Given the description of an element on the screen output the (x, y) to click on. 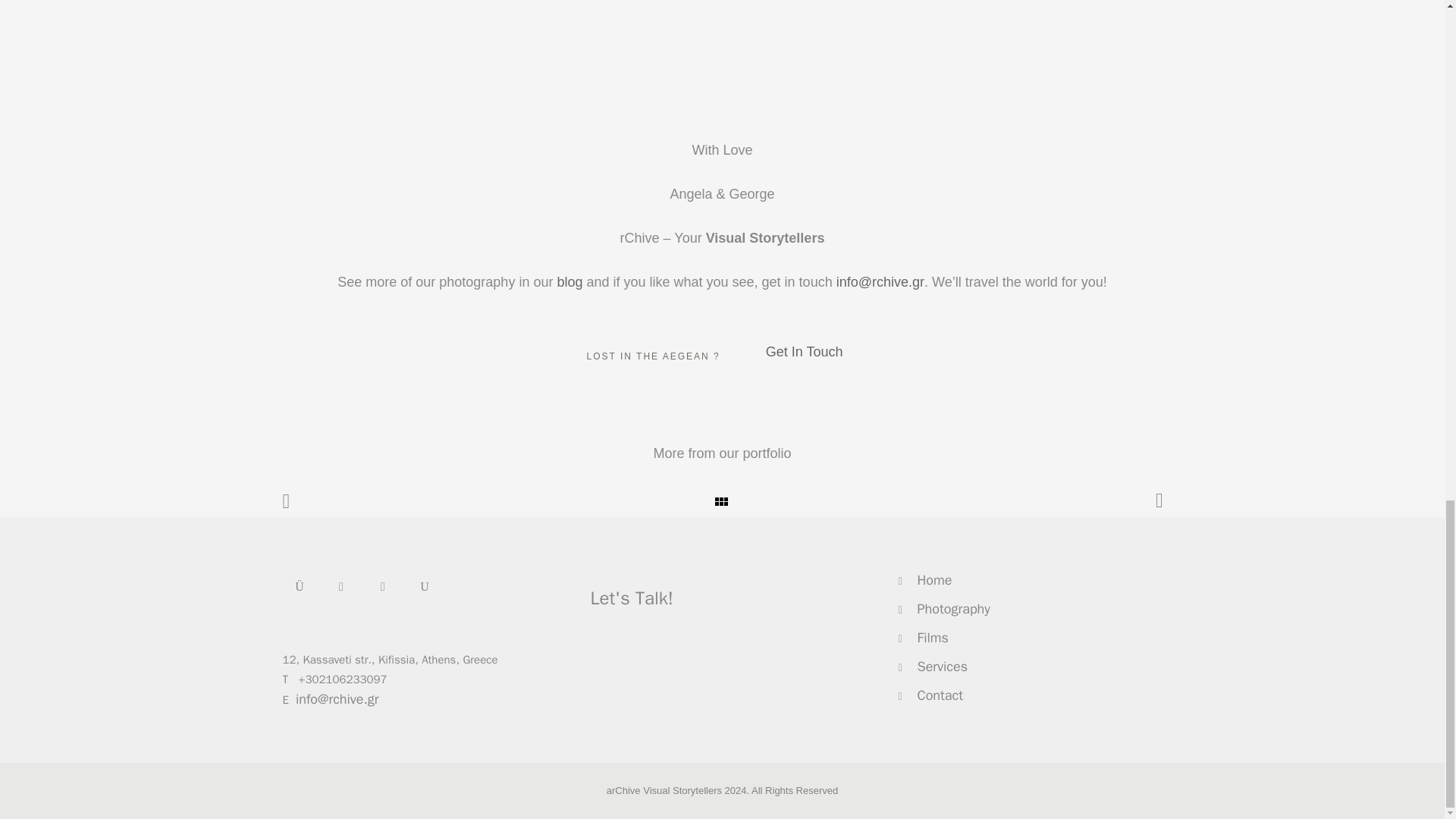
Services (942, 666)
blog (569, 281)
Home (934, 579)
Photography (953, 608)
Films (933, 637)
Get In Touch (805, 351)
Home (934, 579)
Photography (953, 608)
Services (942, 666)
Contact (939, 695)
